Given the description of an element on the screen output the (x, y) to click on. 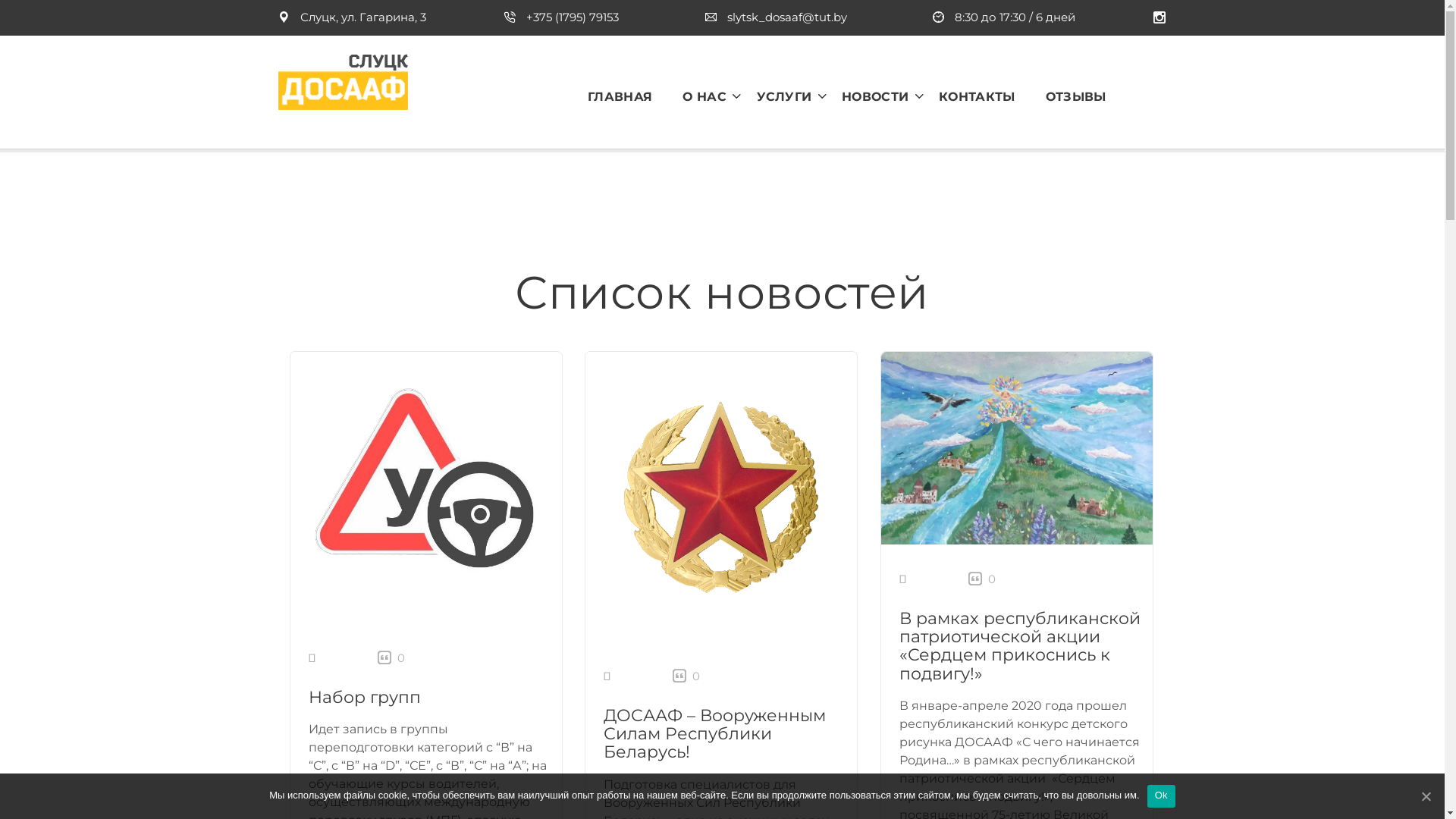
Ok Element type: text (1161, 795)
slytsk_dosaaf@tut.by Element type: text (776, 16)
+375 (1795) 79153 Element type: text (561, 16)
